Given the description of an element on the screen output the (x, y) to click on. 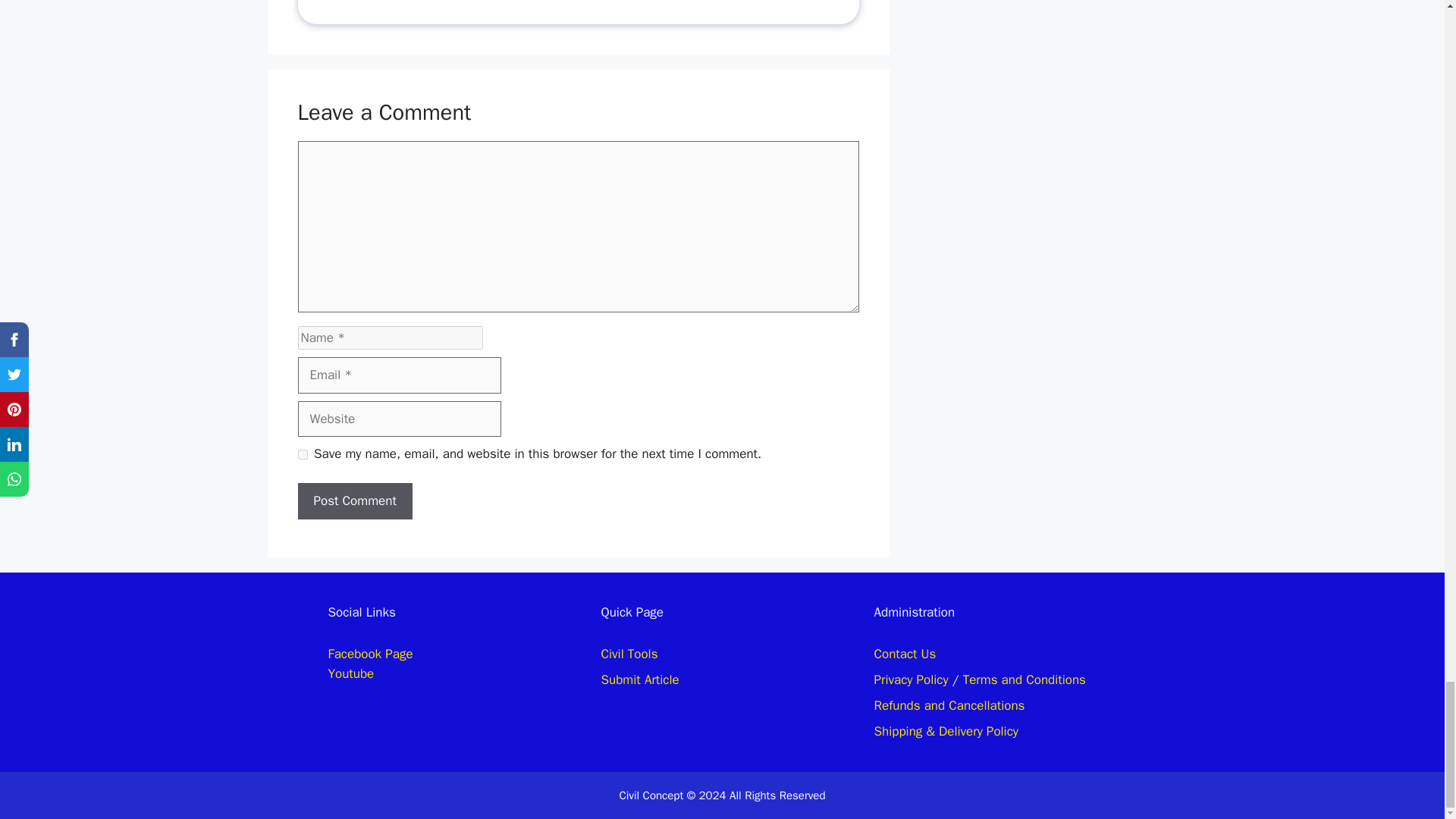
Read more about this author (410, 5)
.... (410, 5)
yes (302, 454)
Post Comment (354, 501)
Post Comment (354, 501)
